Given the description of an element on the screen output the (x, y) to click on. 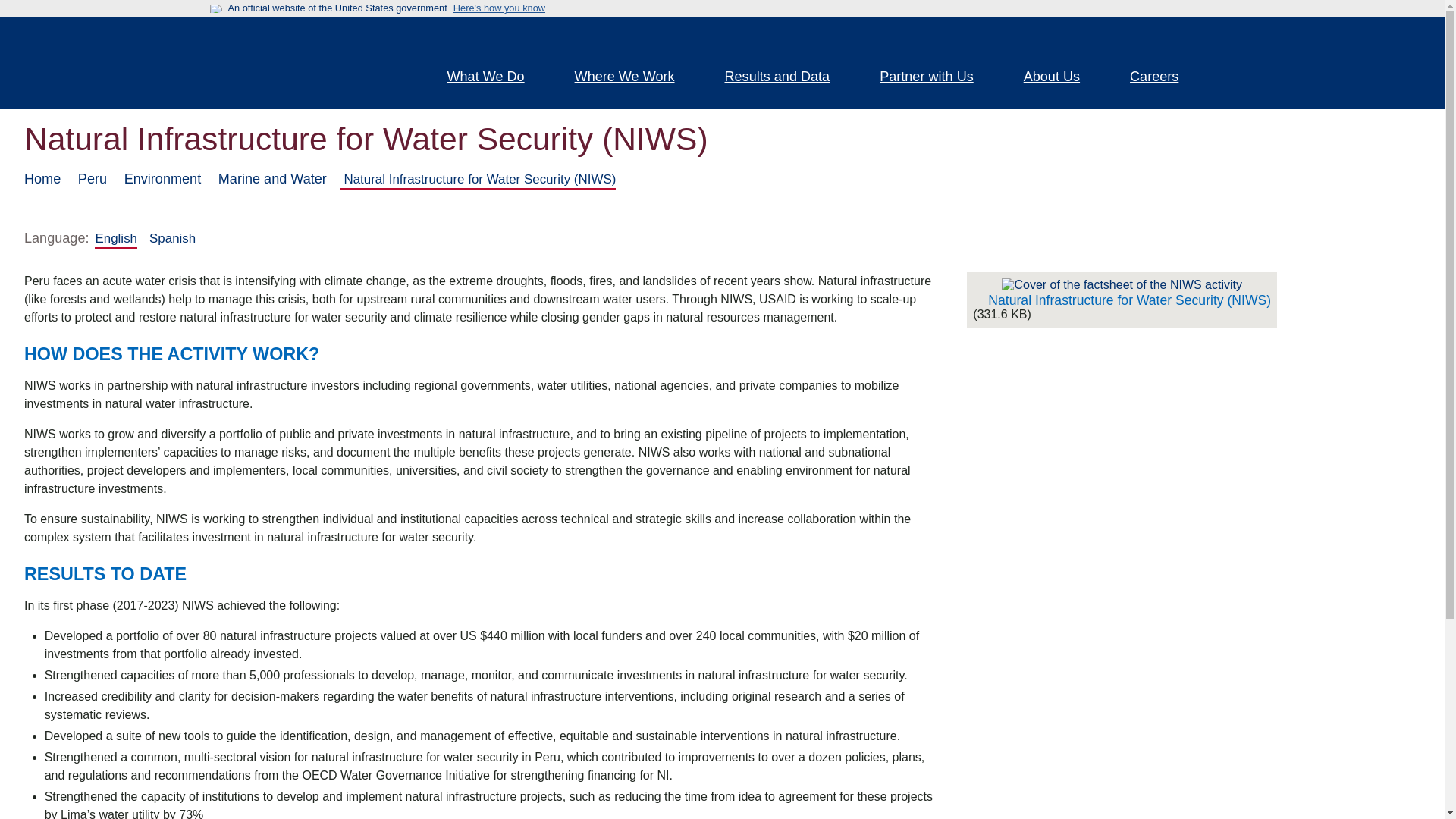
What We Do (493, 78)
Results and Data (786, 78)
Peru (92, 178)
Spanish (172, 237)
Marine and Water (272, 178)
File: NIWS-2-FS-English-July 2023.pdf (1121, 284)
Partner with Us (935, 78)
About Us (1060, 78)
Careers (1162, 78)
Environment (162, 178)
Home (304, 62)
Where We Work (634, 78)
Home (42, 178)
Here's how you know (498, 8)
